Given the description of an element on the screen output the (x, y) to click on. 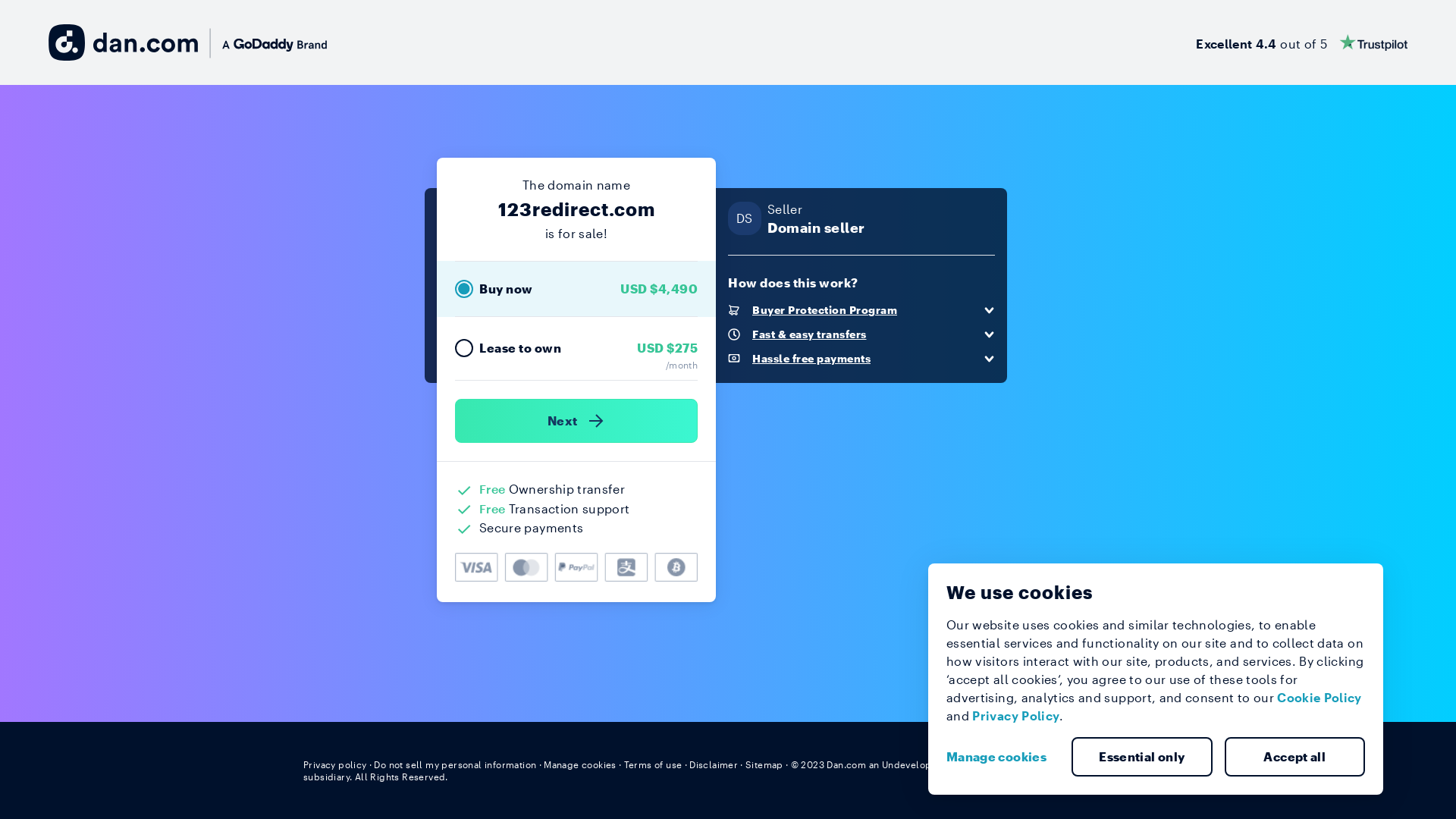
Privacy policy Element type: text (335, 764)
Disclaimer Element type: text (713, 764)
Manage cookies Element type: text (1002, 756)
Excellent 4.4 out of 5 Element type: text (1301, 42)
Manage cookies Element type: text (579, 764)
English Element type: text (1124, 764)
Cookie Policy Element type: text (1319, 697)
Next
) Element type: text (576, 420)
Do not sell my personal information Element type: text (454, 764)
Accept all Element type: text (1294, 756)
Terms of use Element type: text (653, 764)
Privacy Policy Element type: text (1015, 715)
Essential only Element type: text (1141, 756)
Sitemap Element type: text (764, 764)
